Given the description of an element on the screen output the (x, y) to click on. 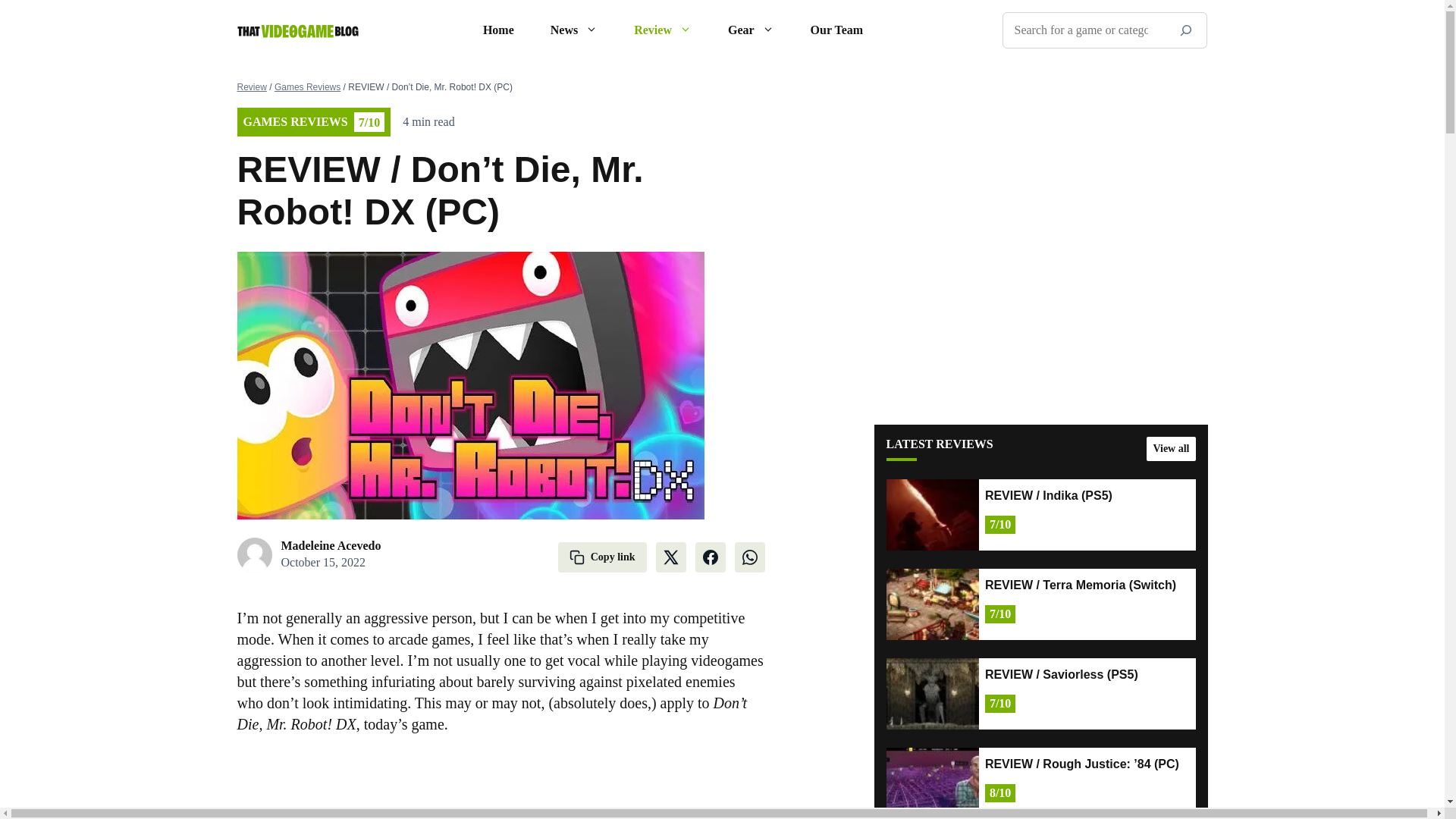
Review (662, 29)
Don't Die, Mr. Robot! DX Steam Launch Trailer (499, 782)
News (573, 29)
Gear (751, 29)
Home (498, 29)
